Given the description of an element on the screen output the (x, y) to click on. 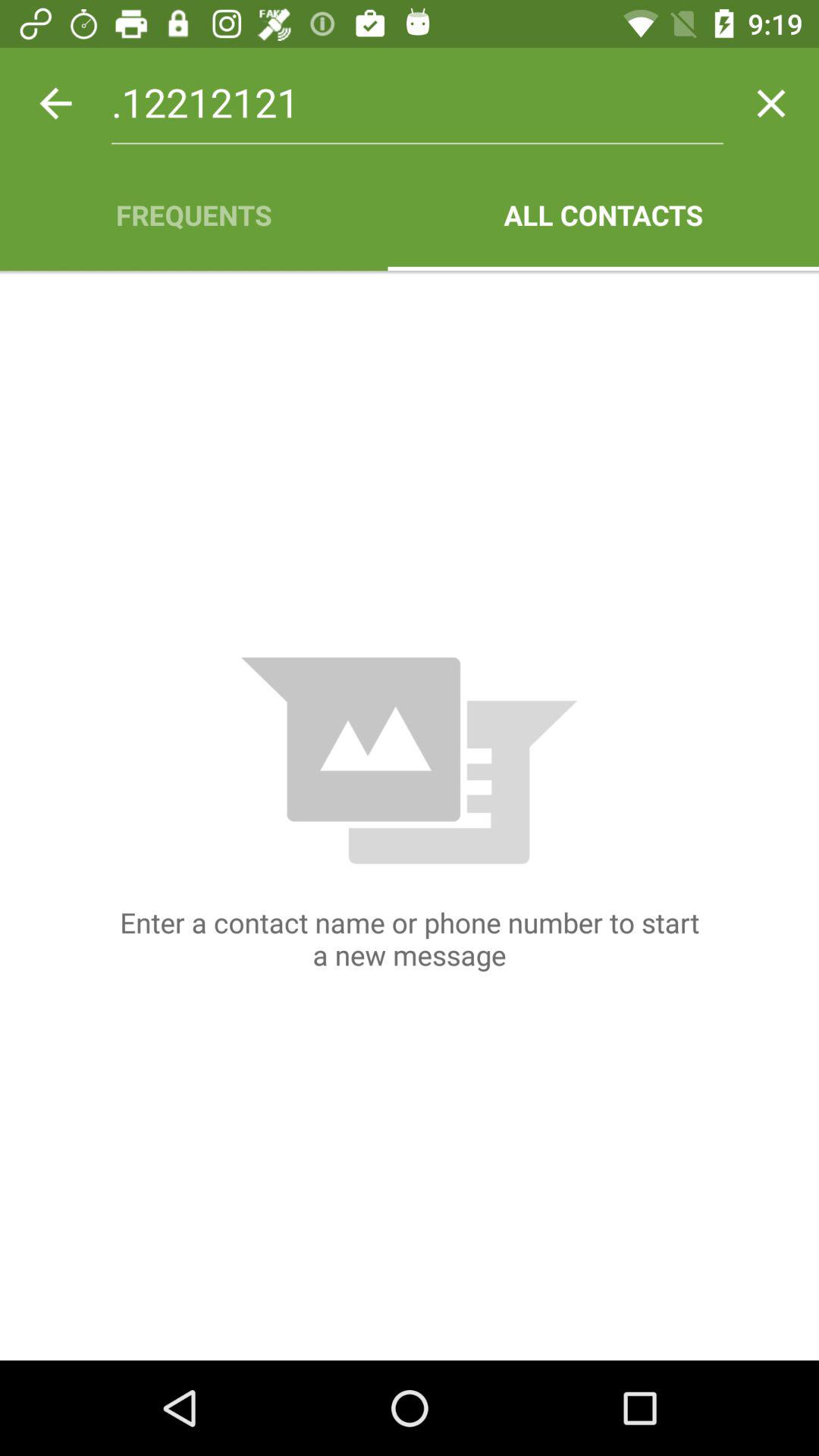
turn on the icon to the right of .12212121 (771, 103)
